Given the description of an element on the screen output the (x, y) to click on. 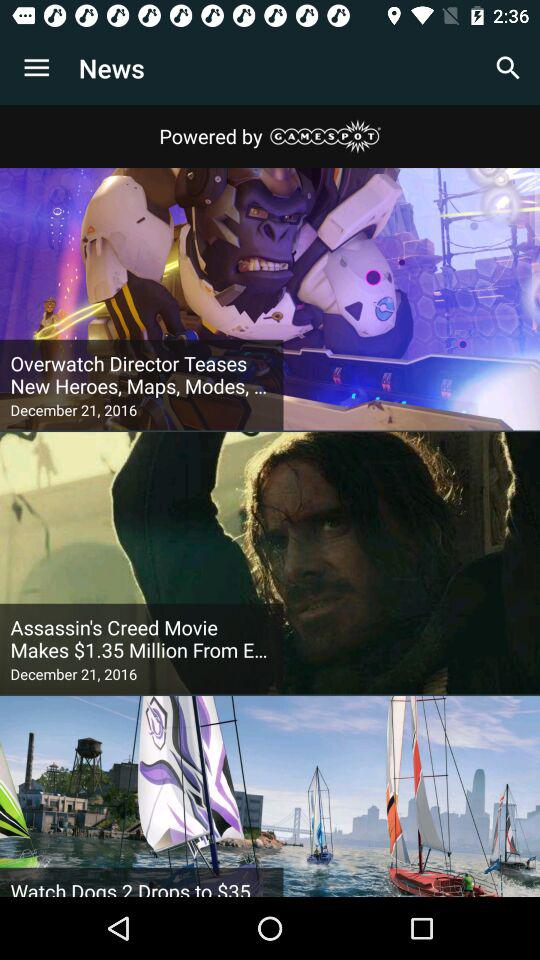
tap the item to the right of the news item (508, 67)
